Given the description of an element on the screen output the (x, y) to click on. 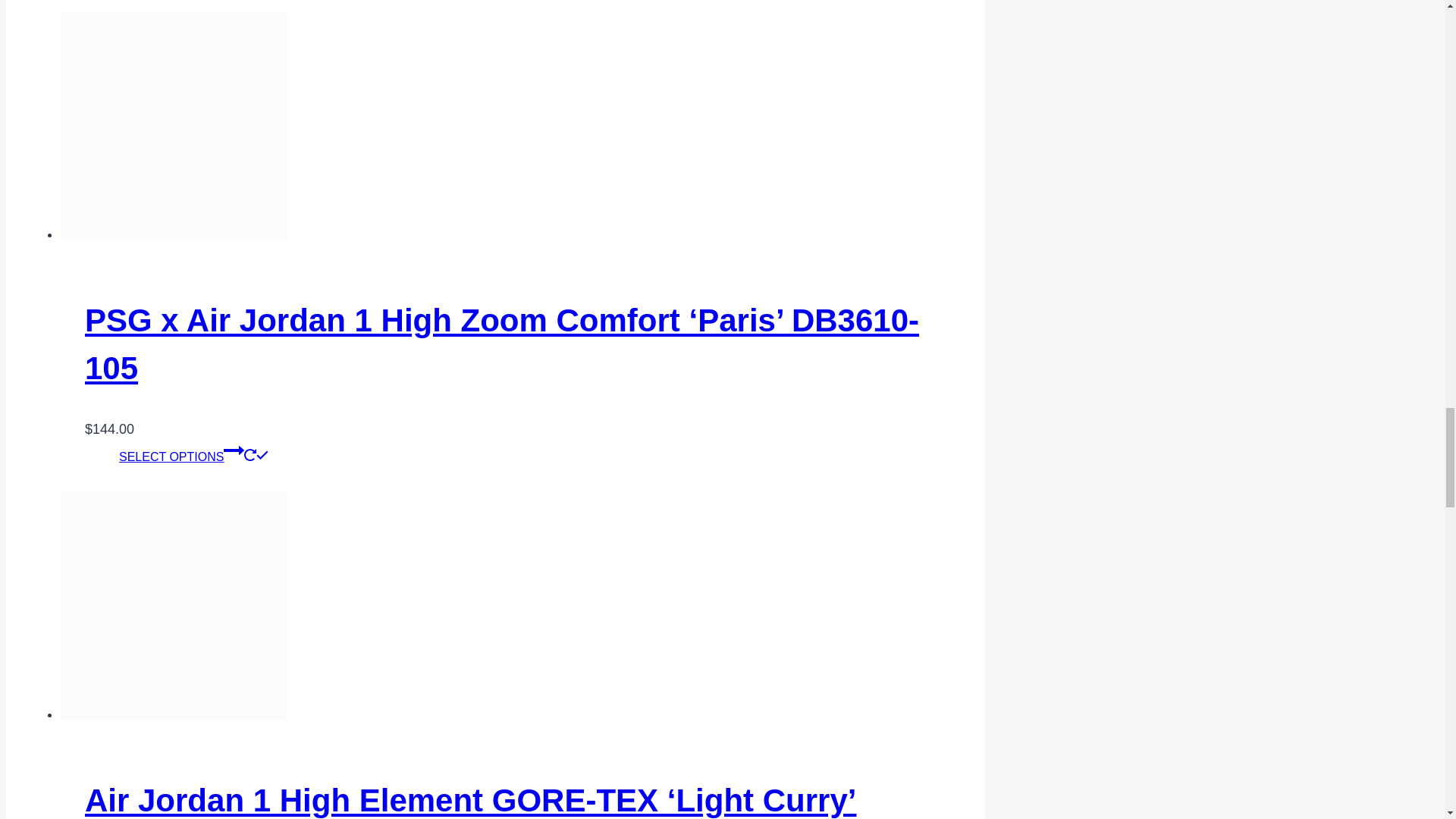
LOADING (250, 454)
DONE (261, 454)
CONTINUE (234, 450)
